Given the description of an element on the screen output the (x, y) to click on. 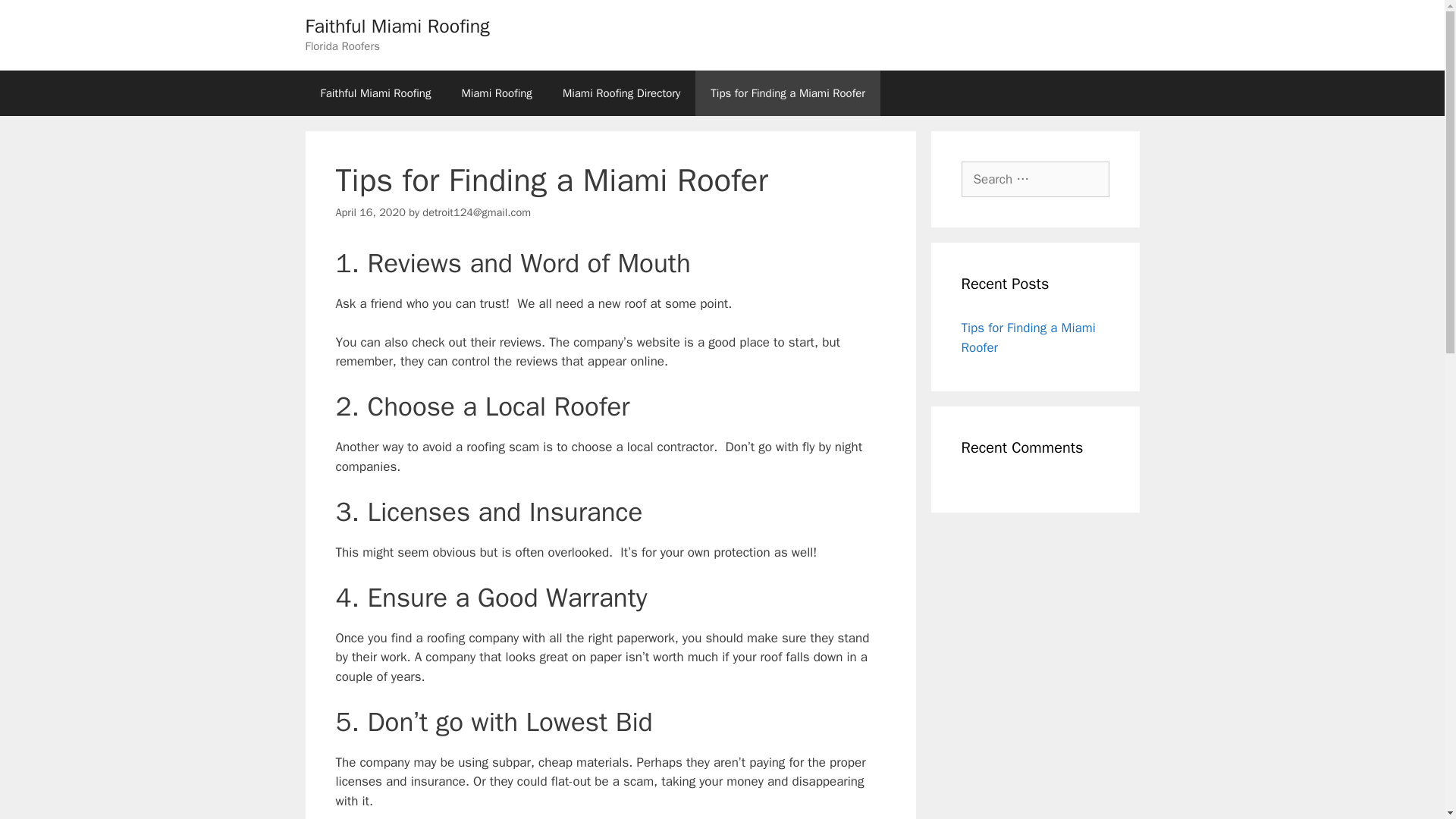
Search for: (1034, 178)
Faithful Miami Roofing (374, 92)
Miami Roofing Directory (621, 92)
Search (35, 18)
Tips for Finding a Miami Roofer (787, 92)
Miami Roofing (496, 92)
Faithful Miami Roofing (396, 25)
Tips for Finding a Miami Roofer (1028, 337)
